Given the description of an element on the screen output the (x, y) to click on. 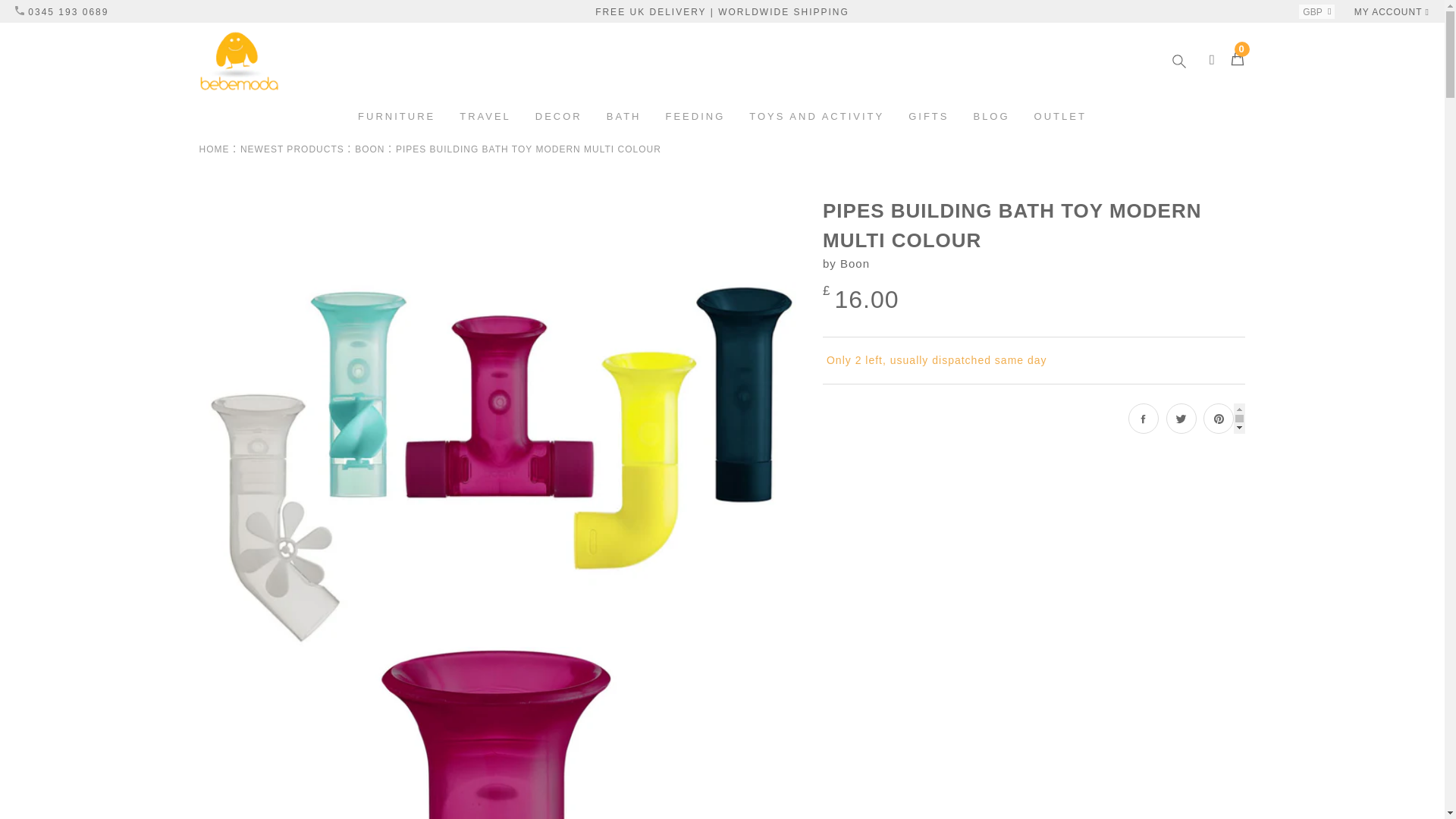
Home (213, 149)
0345 193 0689 (60, 11)
Boon (854, 262)
MY ACCOUNT (1391, 11)
Boon (369, 149)
Tweet (1181, 418)
FURNITURE (396, 116)
Pin it (1218, 418)
Share (1143, 418)
